Given the description of an element on the screen output the (x, y) to click on. 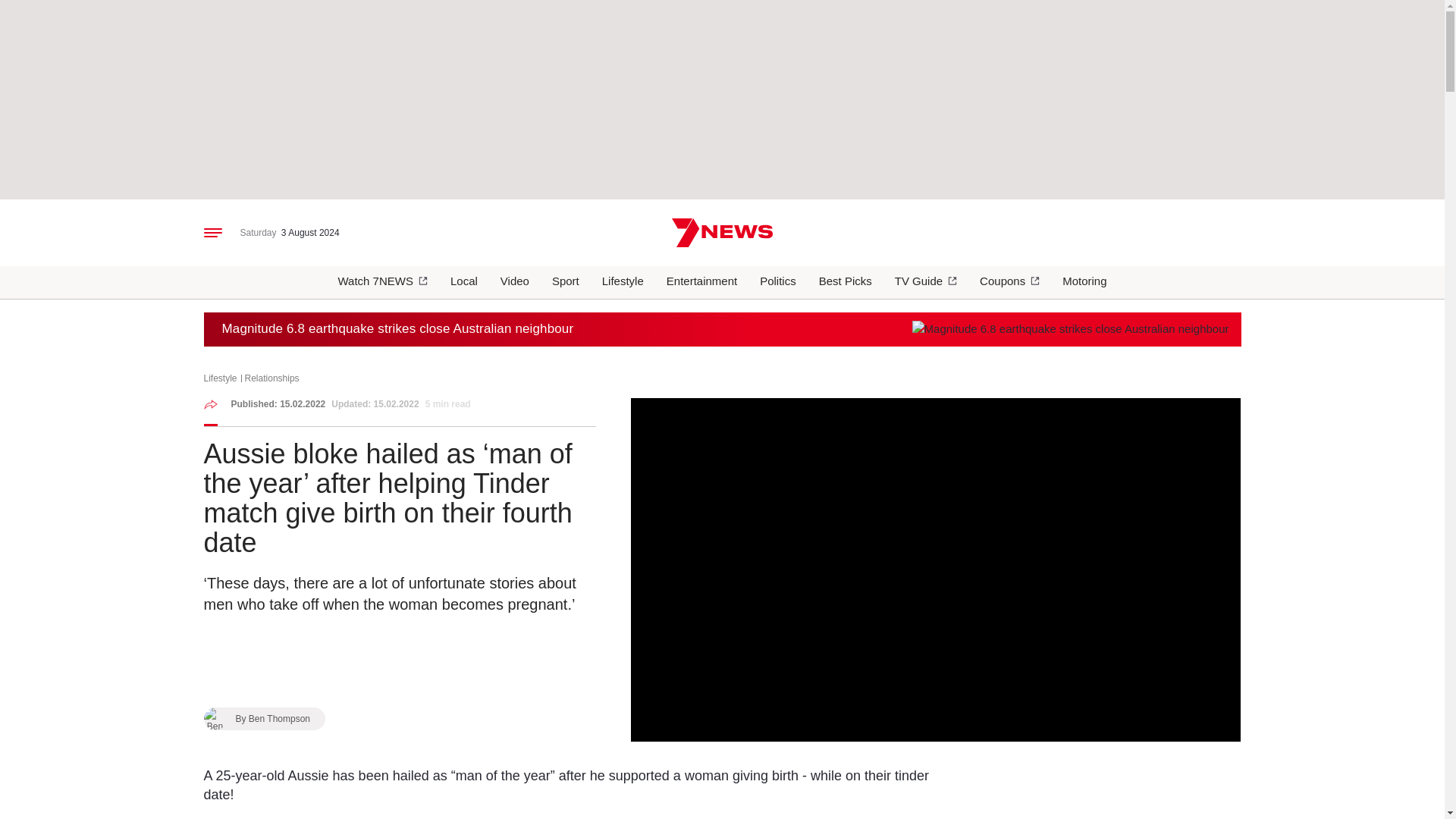
Play Video (935, 569)
Click to open navigation (212, 232)
